Given the description of an element on the screen output the (x, y) to click on. 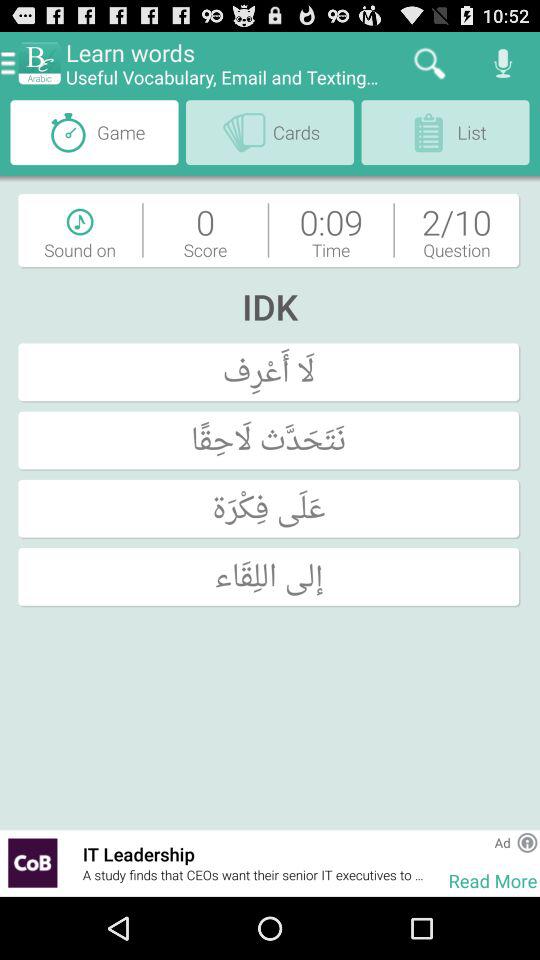
tap icon next to ad icon (527, 842)
